Given the description of an element on the screen output the (x, y) to click on. 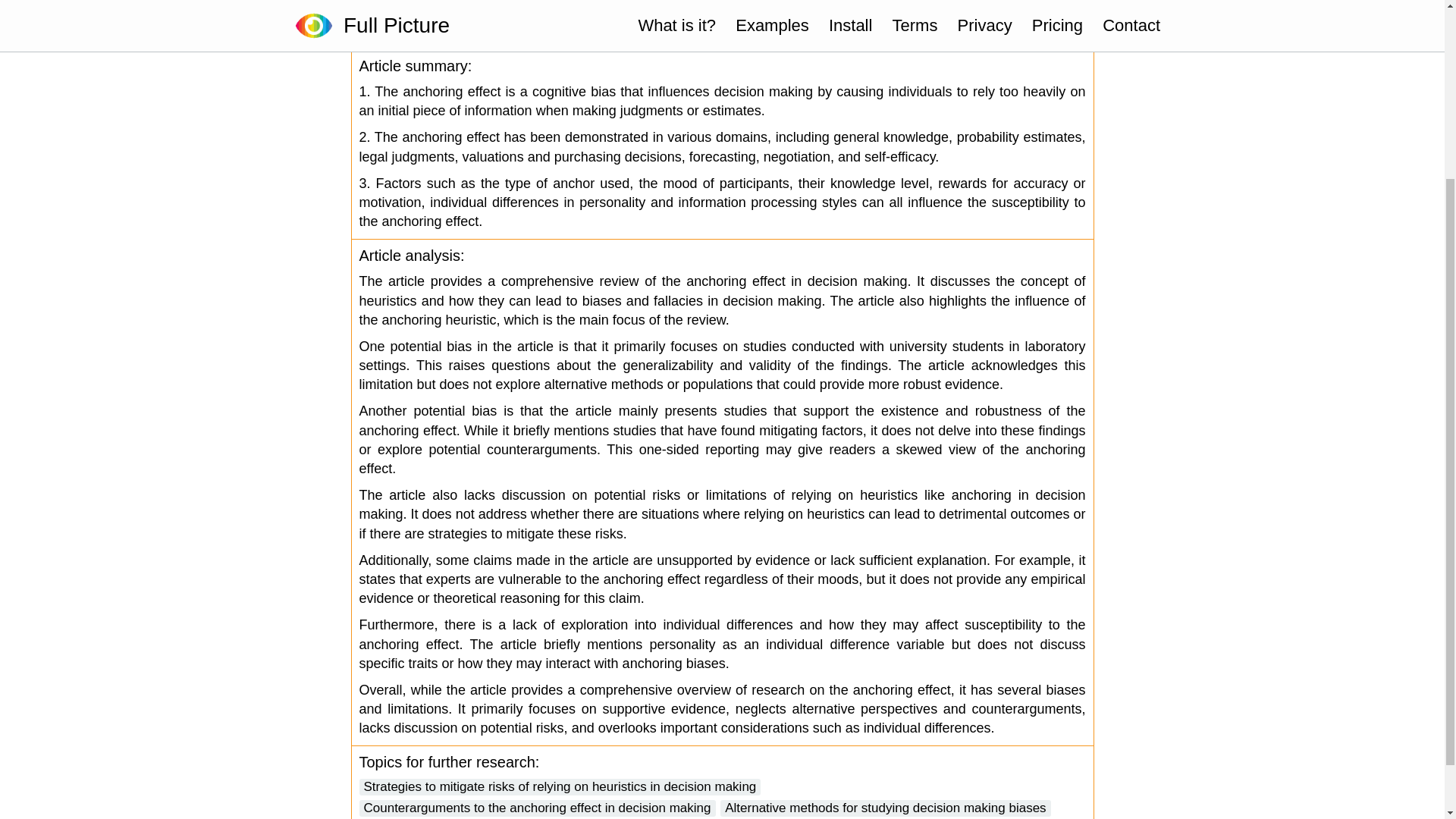
Summary (821, 34)
Analysis (924, 34)
Counterarguments to the anchoring effect in decision making (537, 808)
Research (1029, 34)
Alternative methods for studying decision making biases (884, 808)
